Given the description of an element on the screen output the (x, y) to click on. 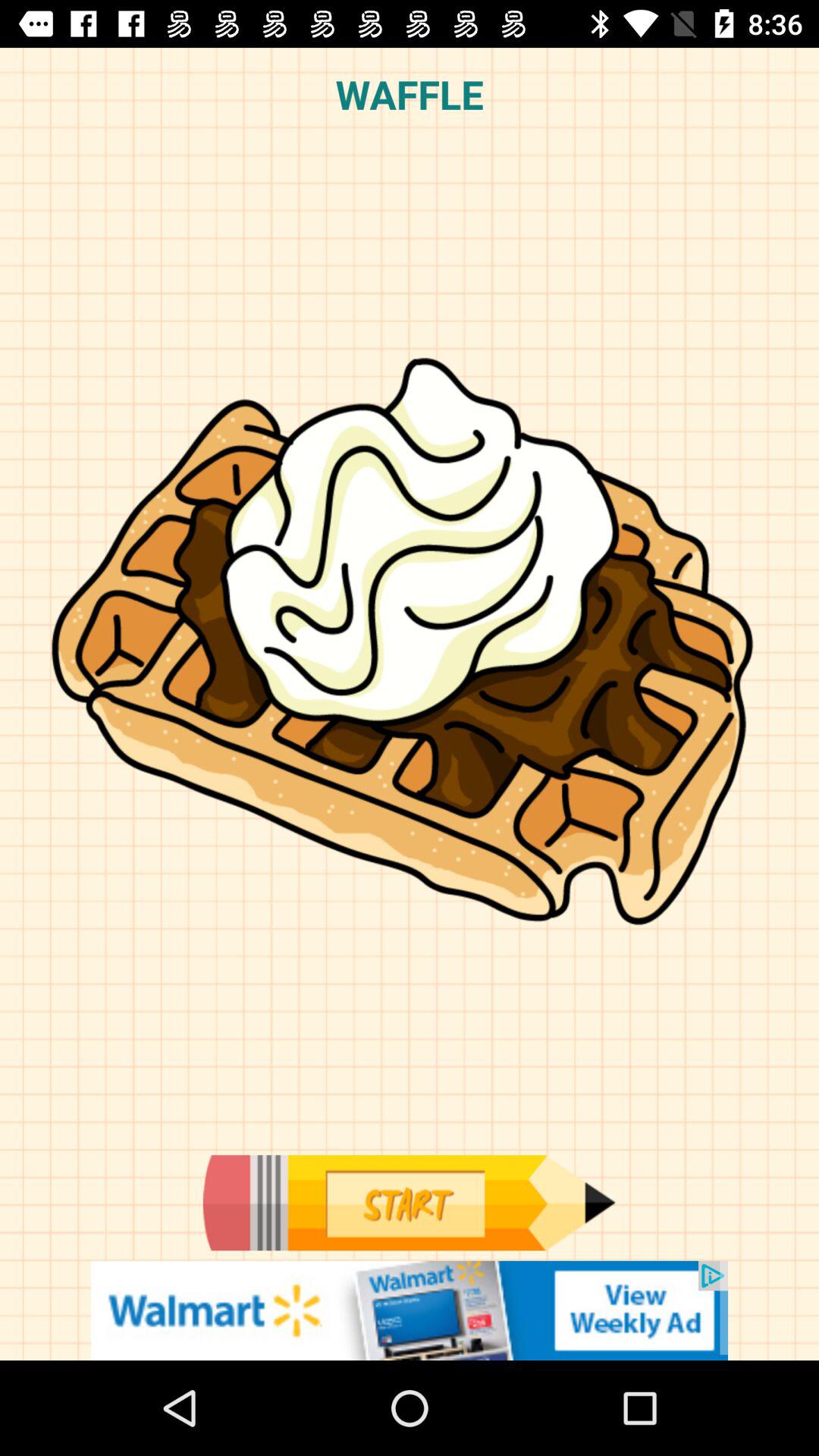
start button (409, 1202)
